Given the description of an element on the screen output the (x, y) to click on. 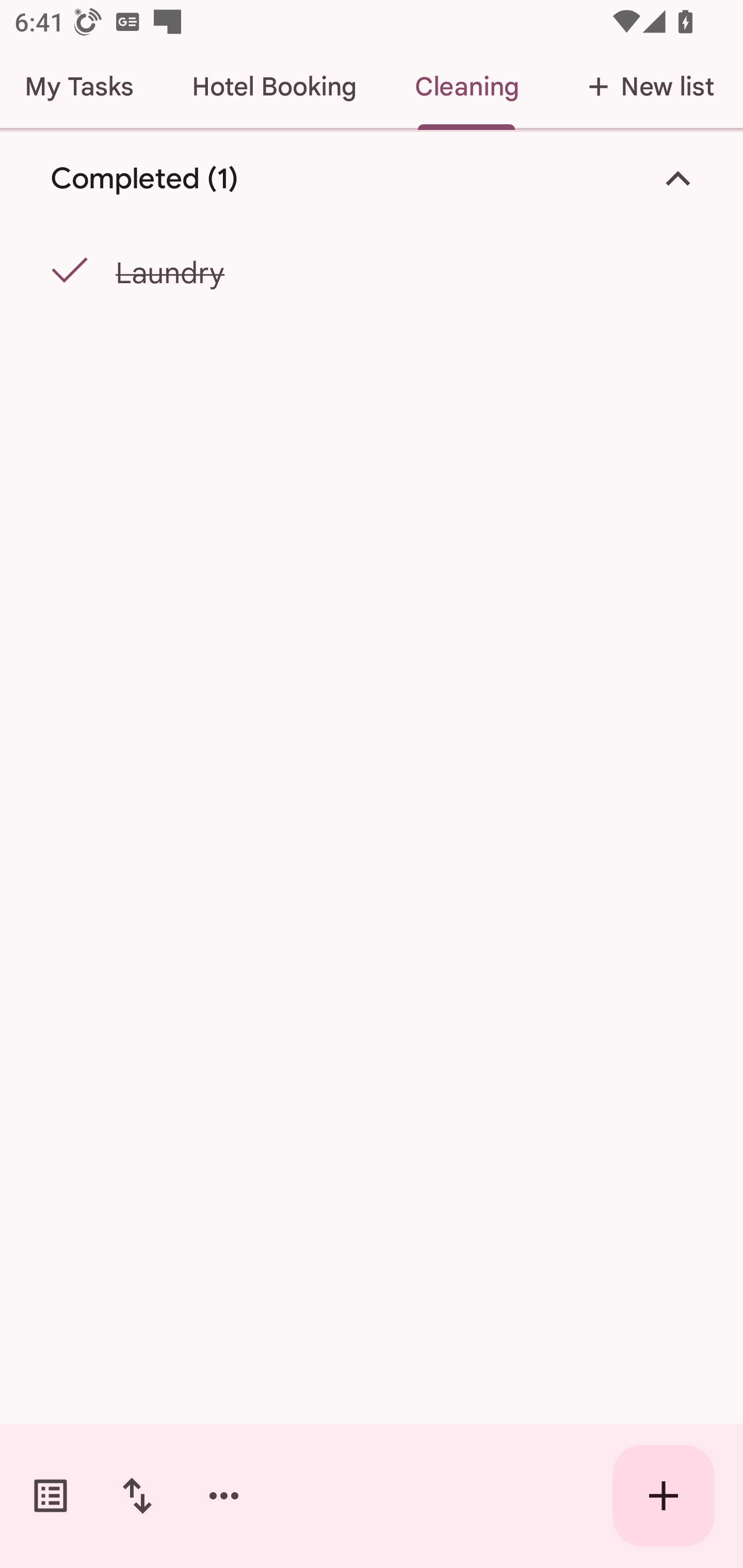
My Tasks (81, 86)
Hotel Booking (273, 86)
New list (645, 86)
Completed (1) (371, 178)
LaundryCompleted task Laundry Mark as not complete (371, 267)
Mark as not complete (64, 271)
Switch task lists (50, 1495)
Create new task (663, 1495)
Change sort order (136, 1495)
More options (223, 1495)
